Given the description of an element on the screen output the (x, y) to click on. 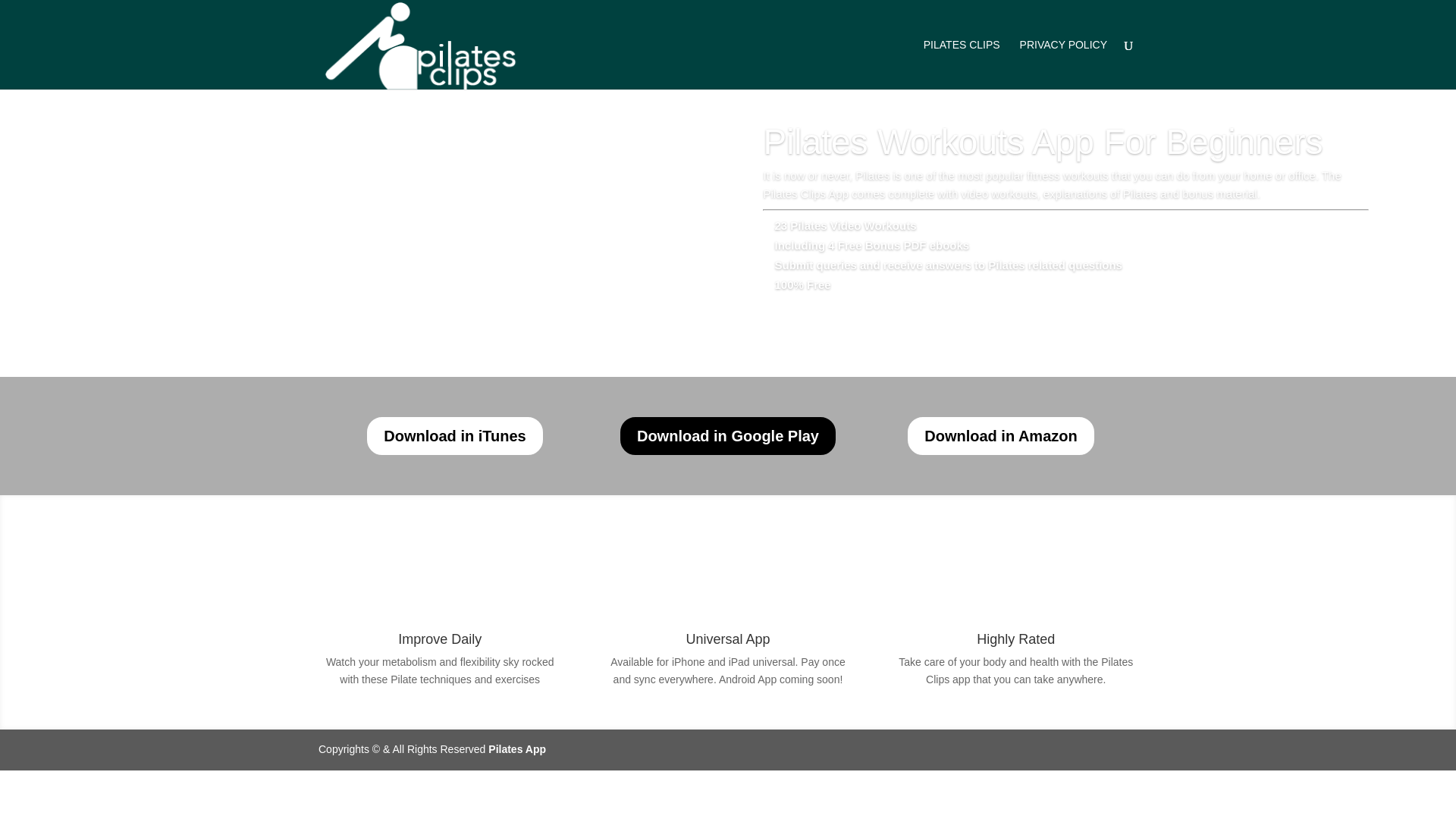
PILATES CLIPS (961, 64)
Download in iTunes (453, 435)
Pilates App (516, 748)
PRIVACY POLICY (1063, 64)
Download in Amazon (1000, 435)
Download in Google Play (727, 435)
